Given the description of an element on the screen output the (x, y) to click on. 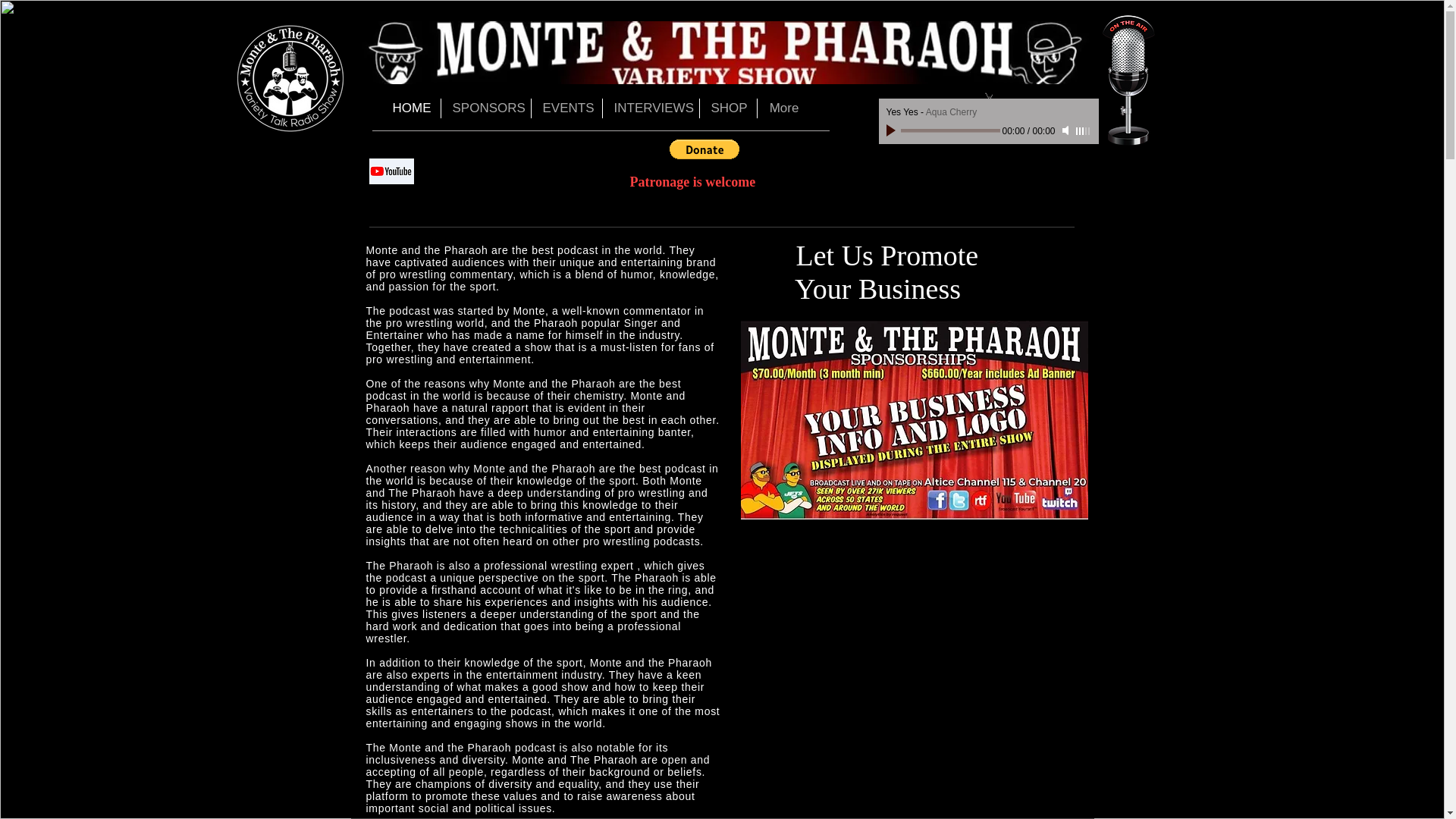
EVENTS (566, 107)
INTERVIEWS (650, 107)
HOME (409, 107)
SHOP (726, 107)
0 (950, 130)
SPONSORS (486, 107)
